Given the description of an element on the screen output the (x, y) to click on. 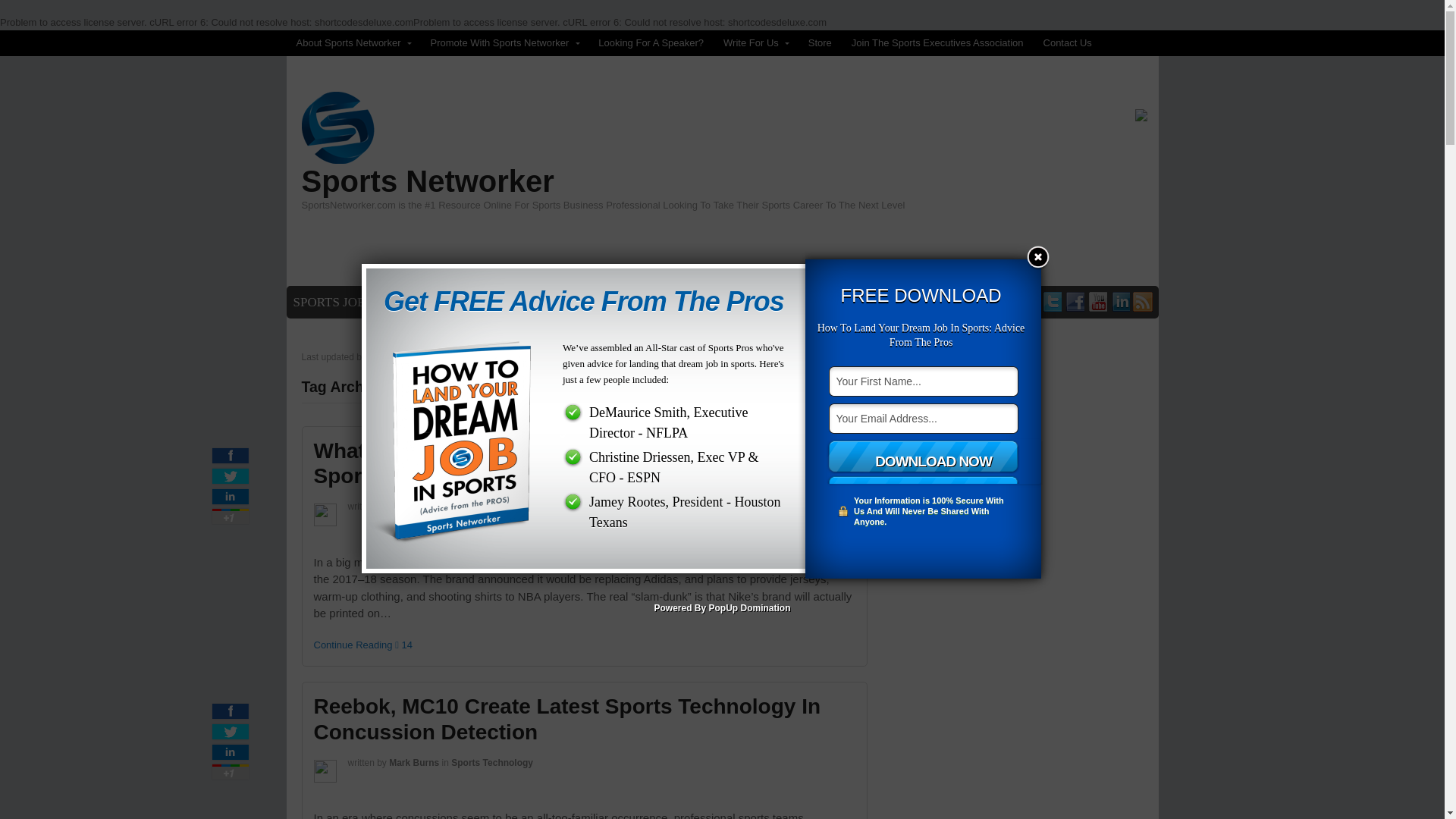
Download Now (934, 461)
Posts by Jennifer Smith (419, 506)
Join The Sports Executives Association (937, 43)
FREE RESOURCES (631, 302)
Sports Networker (427, 181)
Promote With Sports Networker (504, 43)
About Sports Networker (353, 43)
Write For Us (755, 43)
Posts by Mark Burns (413, 762)
SPORTS JOBS (333, 302)
View all posts in Sports Technology (491, 762)
Continue Reading (353, 644)
Store (819, 43)
Looking For A Speaker? (650, 43)
